Given the description of an element on the screen output the (x, y) to click on. 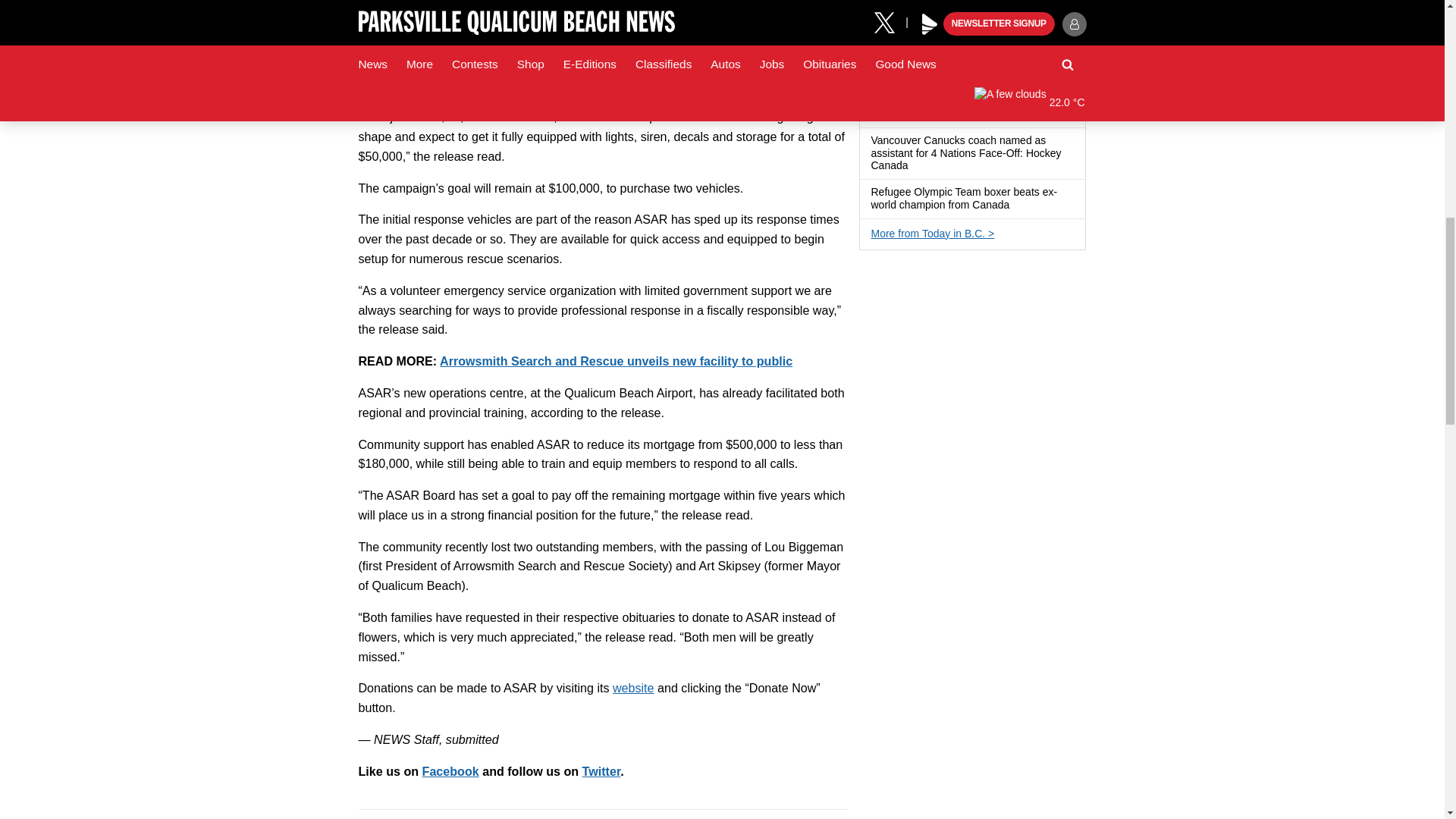
Arrowsmith Search and Rescue unveils new facility to public (615, 360)
